Given the description of an element on the screen output the (x, y) to click on. 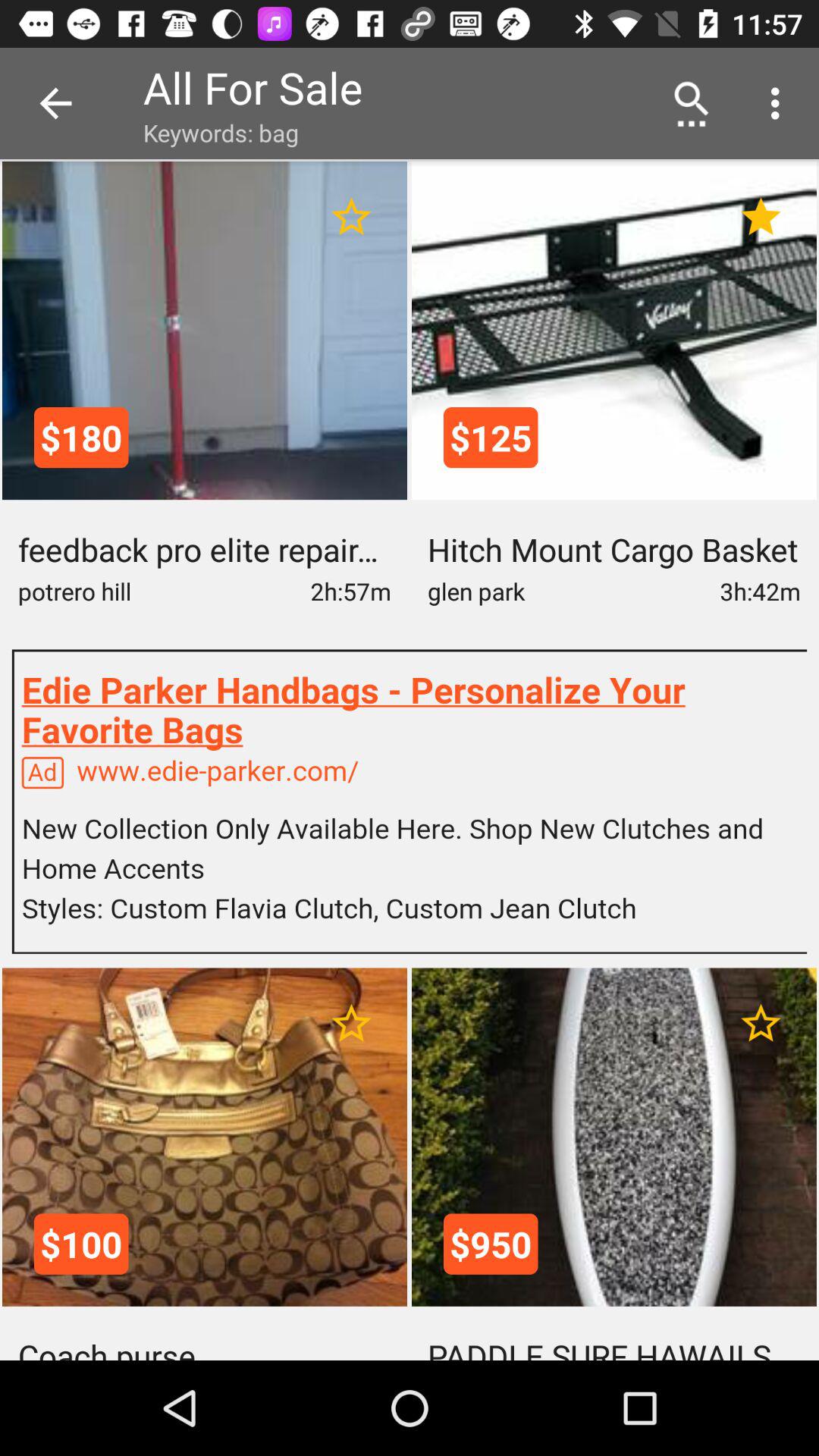
click to favourite (351, 217)
